Given the description of an element on the screen output the (x, y) to click on. 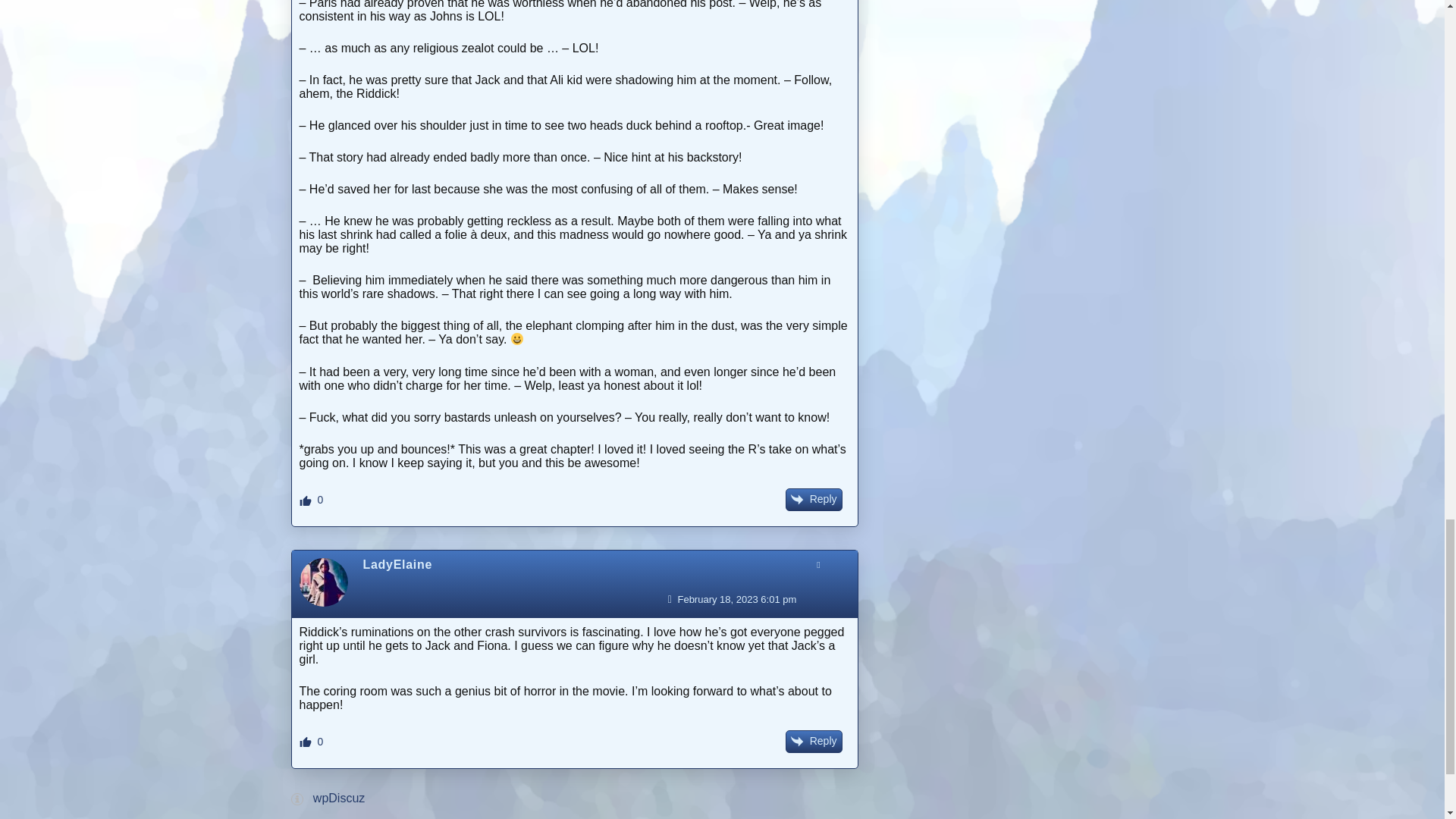
wpDiscuz (339, 797)
